Given the description of an element on the screen output the (x, y) to click on. 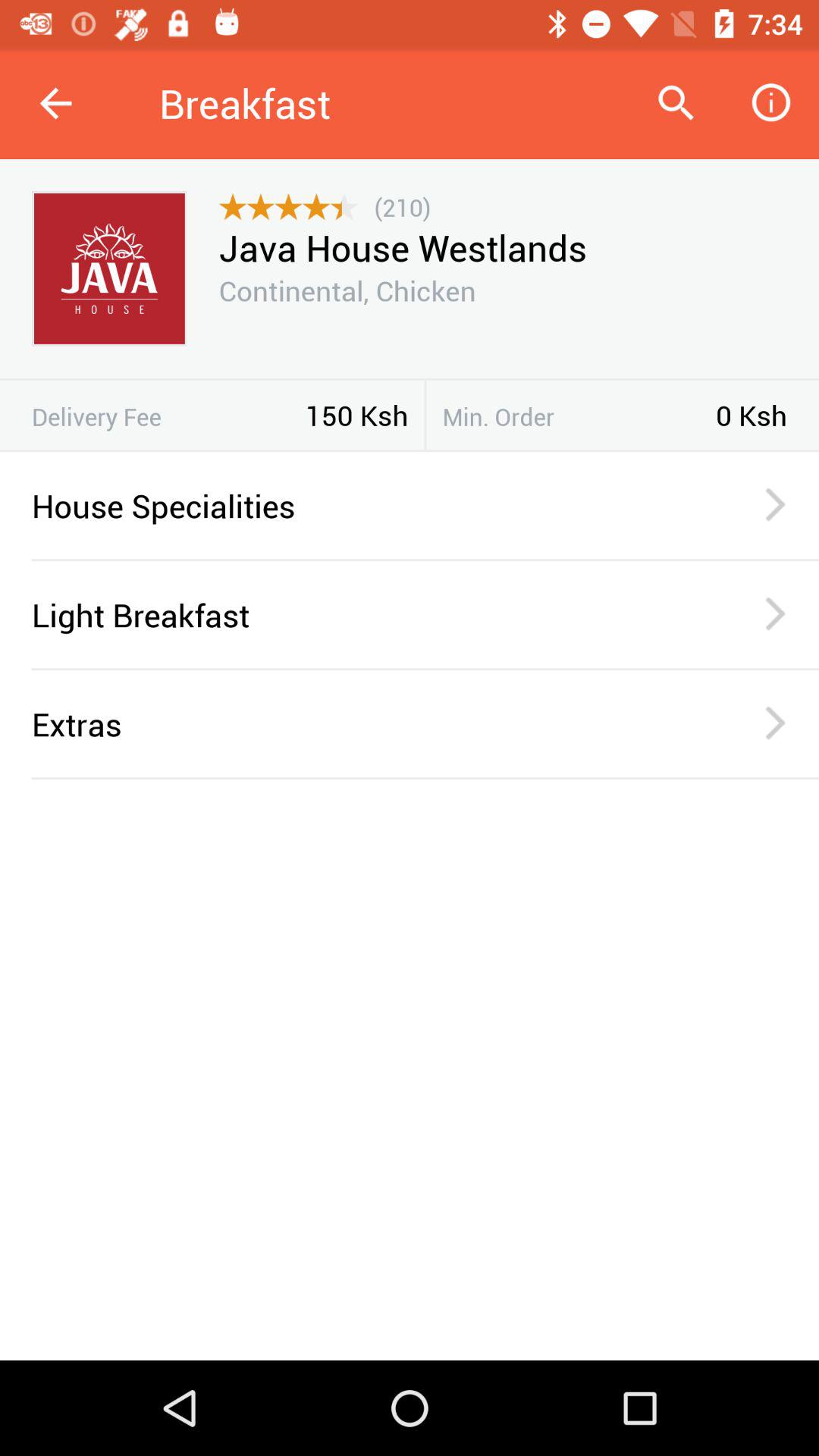
turn off item to the right of delivery fee icon (356, 414)
